Given the description of an element on the screen output the (x, y) to click on. 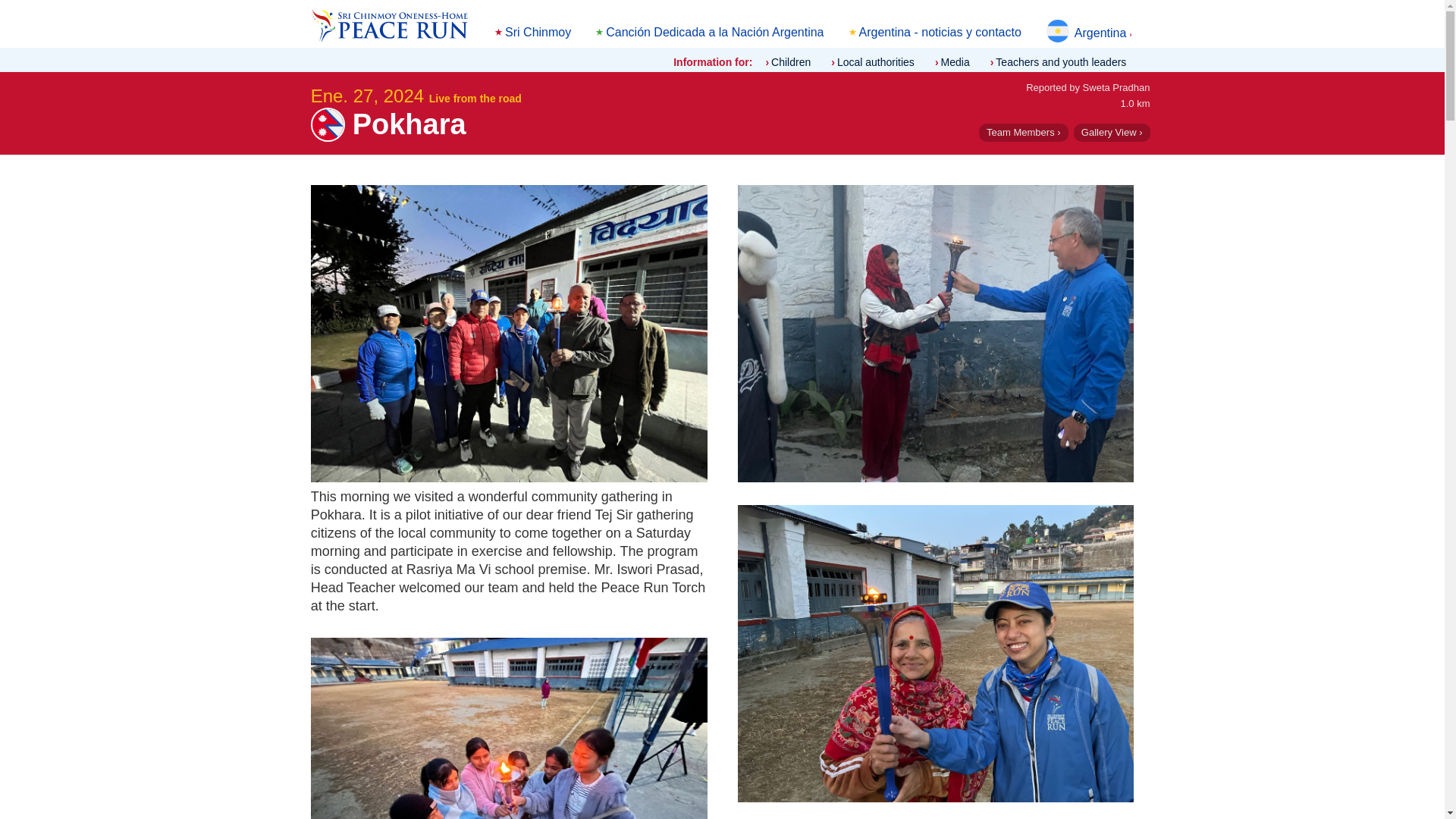
Argentina - noticias y contacto (940, 32)
Sri Chinmoy (537, 32)
